Given the description of an element on the screen output the (x, y) to click on. 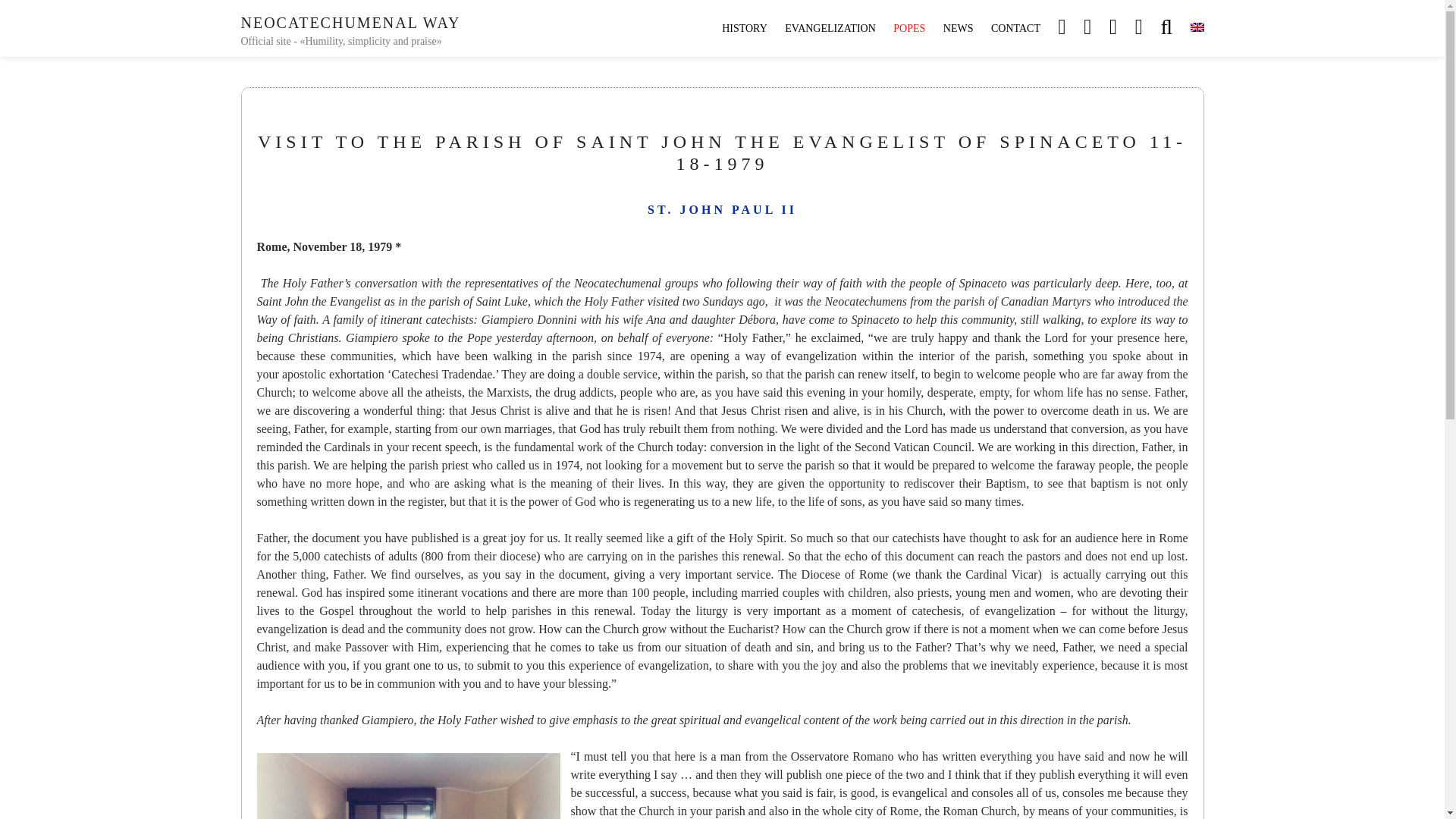
NEOCATECHUMENAL WAY (351, 22)
